Given the description of an element on the screen output the (x, y) to click on. 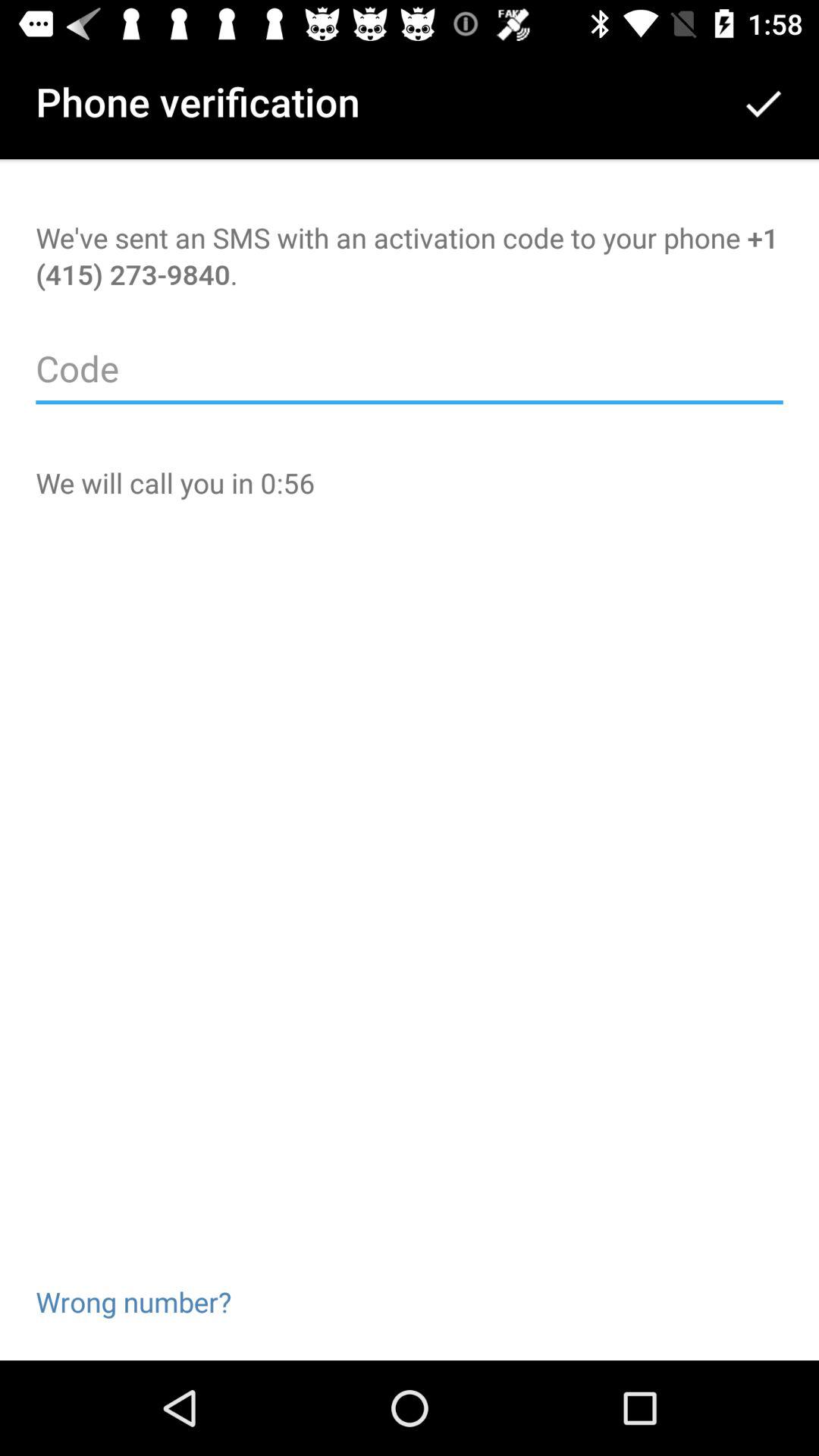
launch the item below the we will call icon (133, 1277)
